Given the description of an element on the screen output the (x, y) to click on. 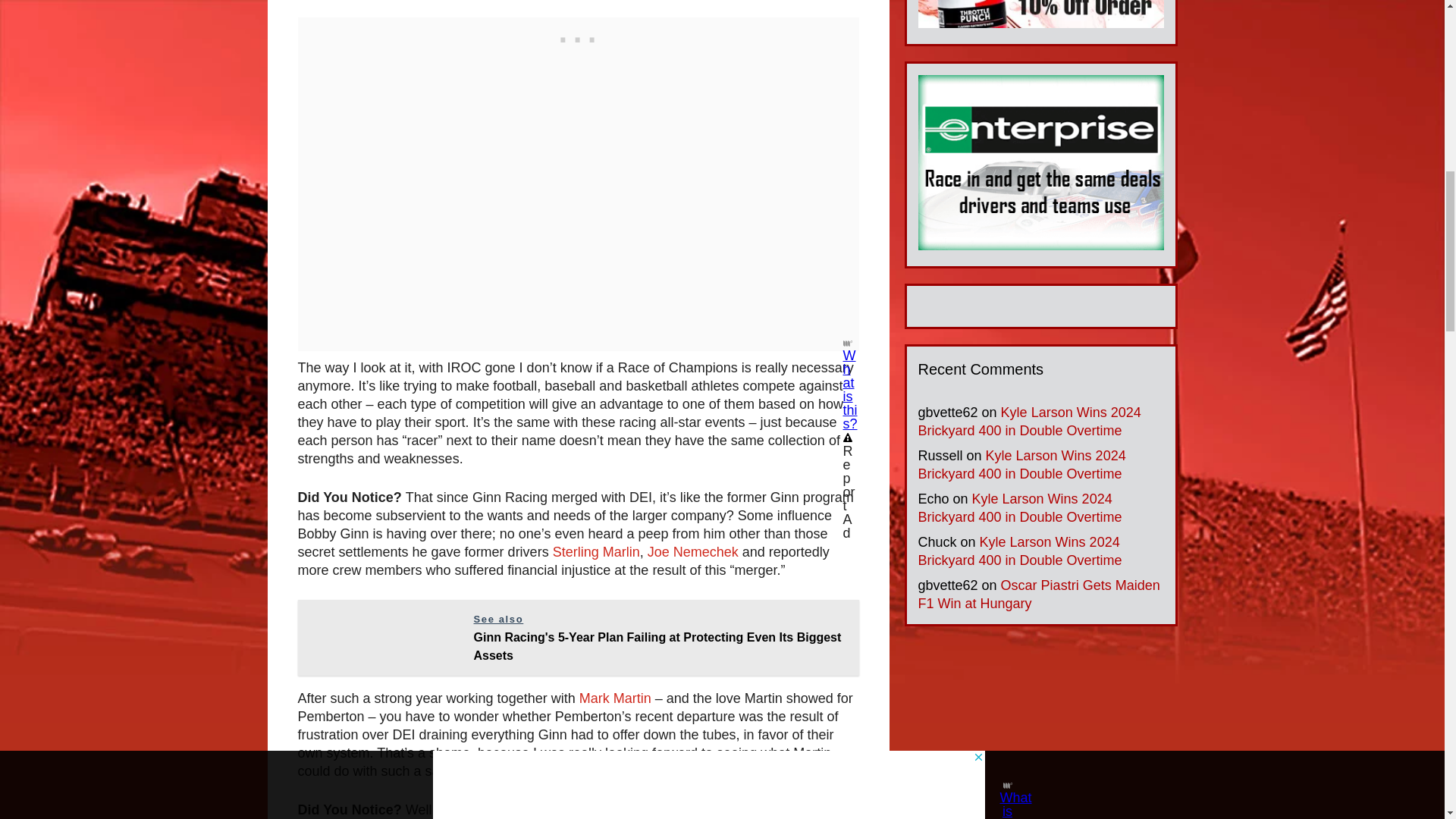
3rd party ad content (1040, 730)
Sterling Marlin (596, 551)
Joe Nemechek (692, 551)
3rd party ad content (577, 36)
Mark Martin (614, 698)
